Given the description of an element on the screen output the (x, y) to click on. 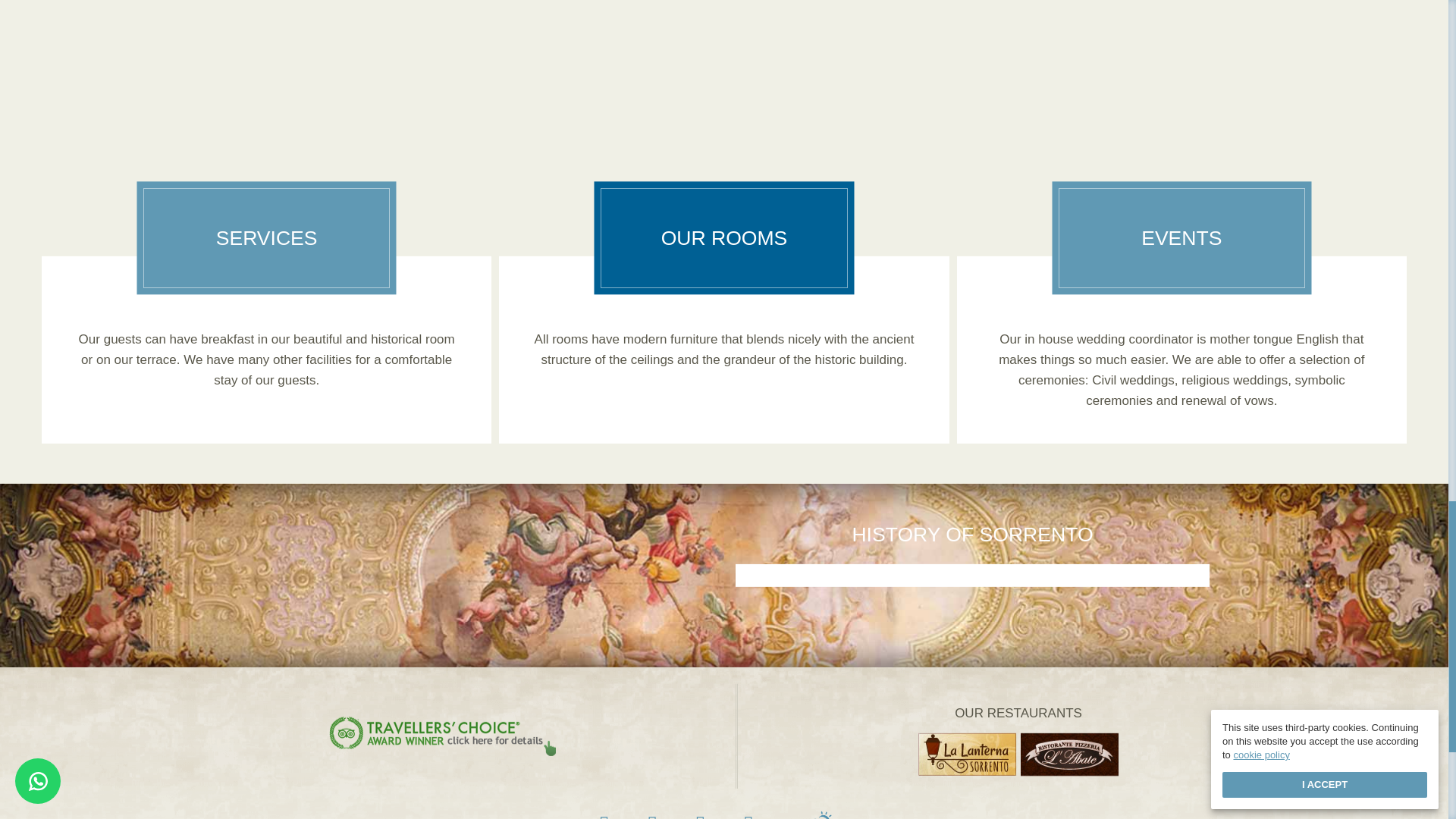
OUR ROOMS (723, 238)
tripadvisor (749, 816)
EVENTS (1182, 238)
Ristorante La Lanterna (966, 753)
twitter (652, 816)
Ristorante Pizzeria L'abate (1069, 753)
facebook (603, 816)
Signaled on Enjoy the Coast (820, 815)
instagram (700, 816)
SERVICES (266, 238)
